Given the description of an element on the screen output the (x, y) to click on. 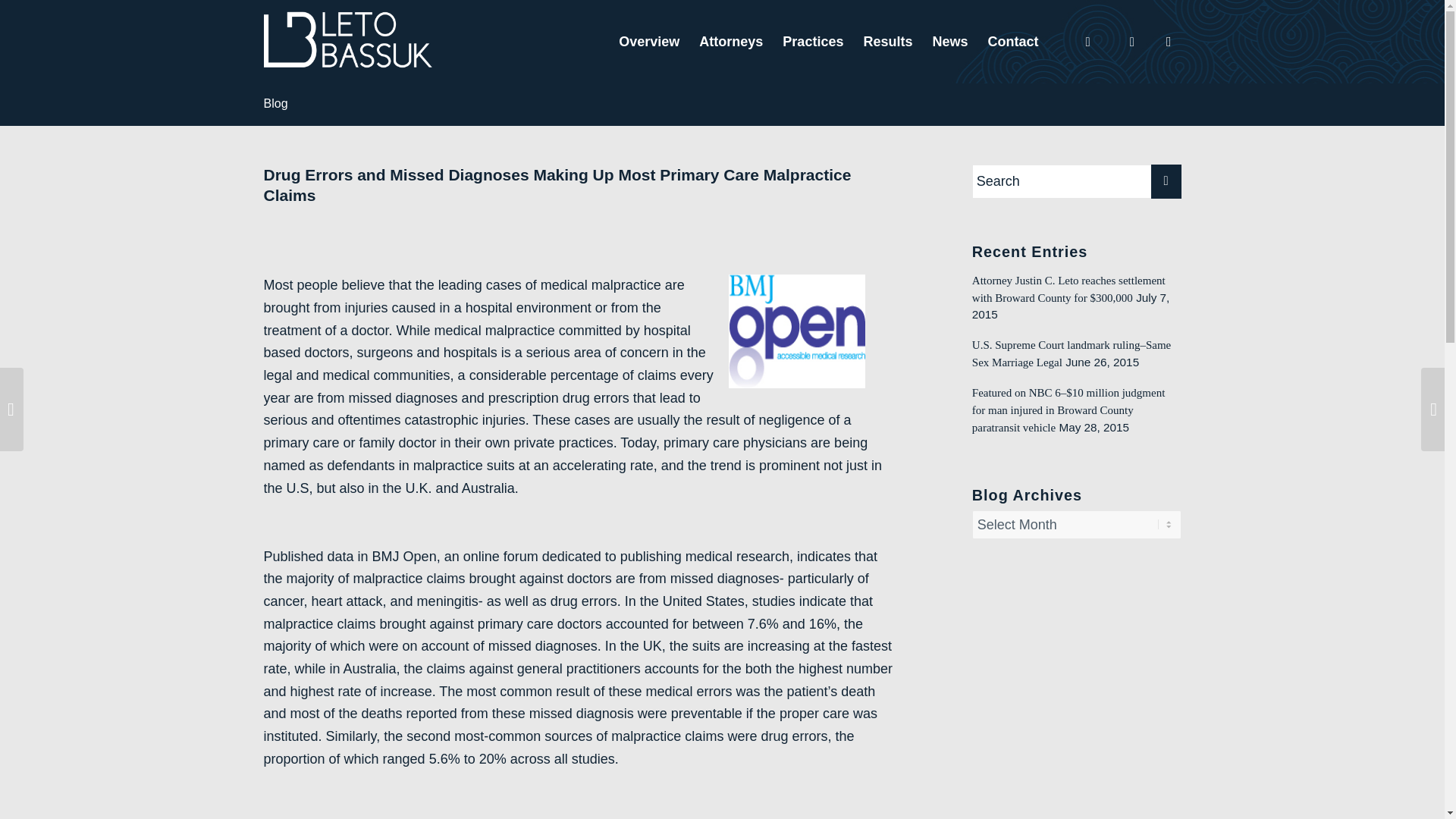
Blog (275, 103)
Practices (813, 41)
Overview (648, 41)
Attorneys (730, 41)
Permanent Link: Blog (275, 103)
medical malpractice (600, 284)
